Given the description of an element on the screen output the (x, y) to click on. 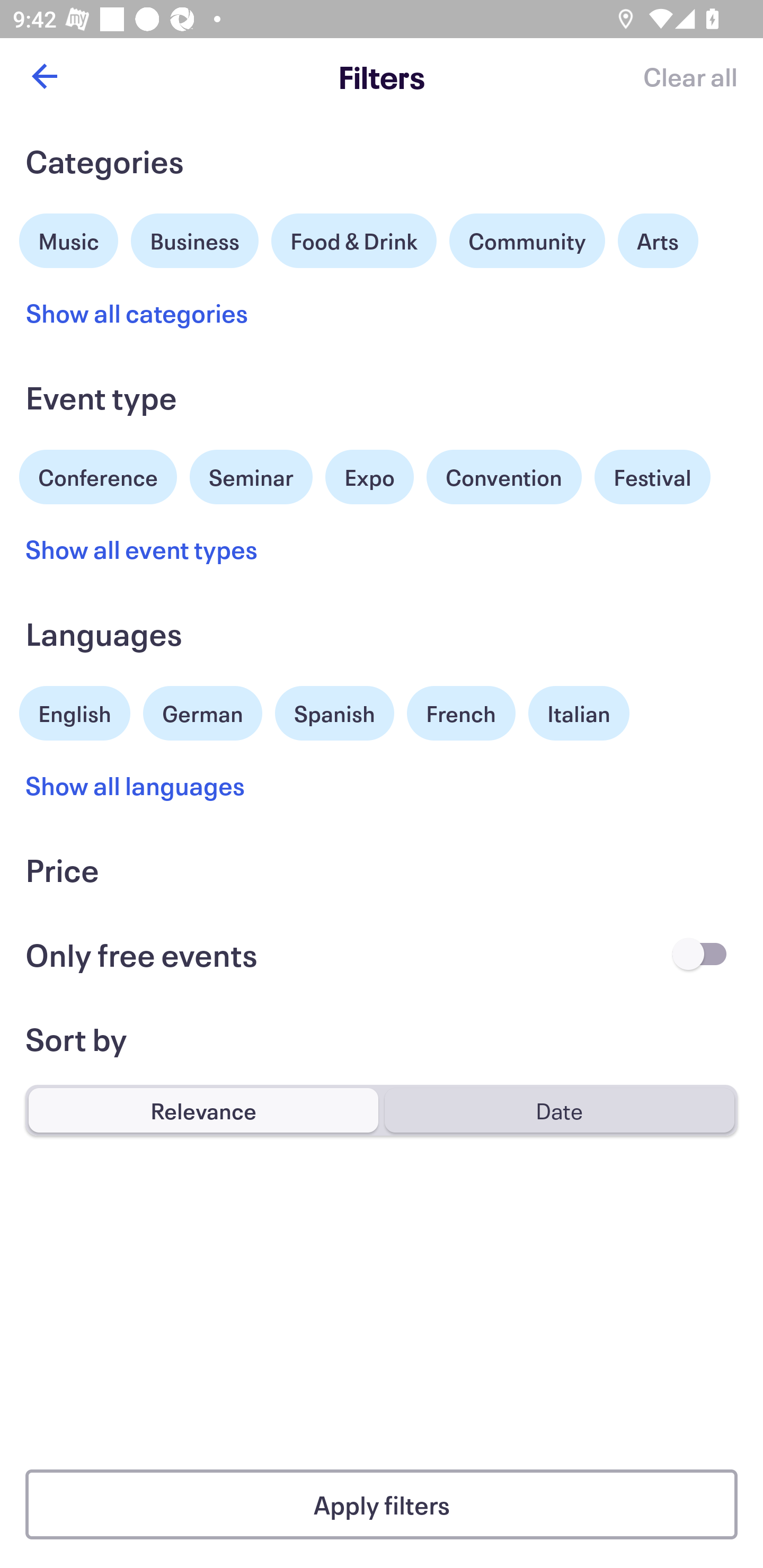
Back button (44, 75)
Clear all (690, 75)
Music (68, 238)
Business (194, 238)
Food & Drink (353, 240)
Community (527, 240)
Arts (658, 240)
Show all categories (136, 312)
Conference (98, 475)
Seminar (250, 477)
Expo (369, 477)
Convention (503, 477)
Festival (652, 477)
Show all event types (141, 548)
English (74, 710)
German (202, 710)
Spanish (334, 713)
French (460, 713)
Italian (578, 713)
Show all languages (135, 784)
Relevance (203, 1109)
Date (559, 1109)
Apply filters (381, 1504)
